Given the description of an element on the screen output the (x, y) to click on. 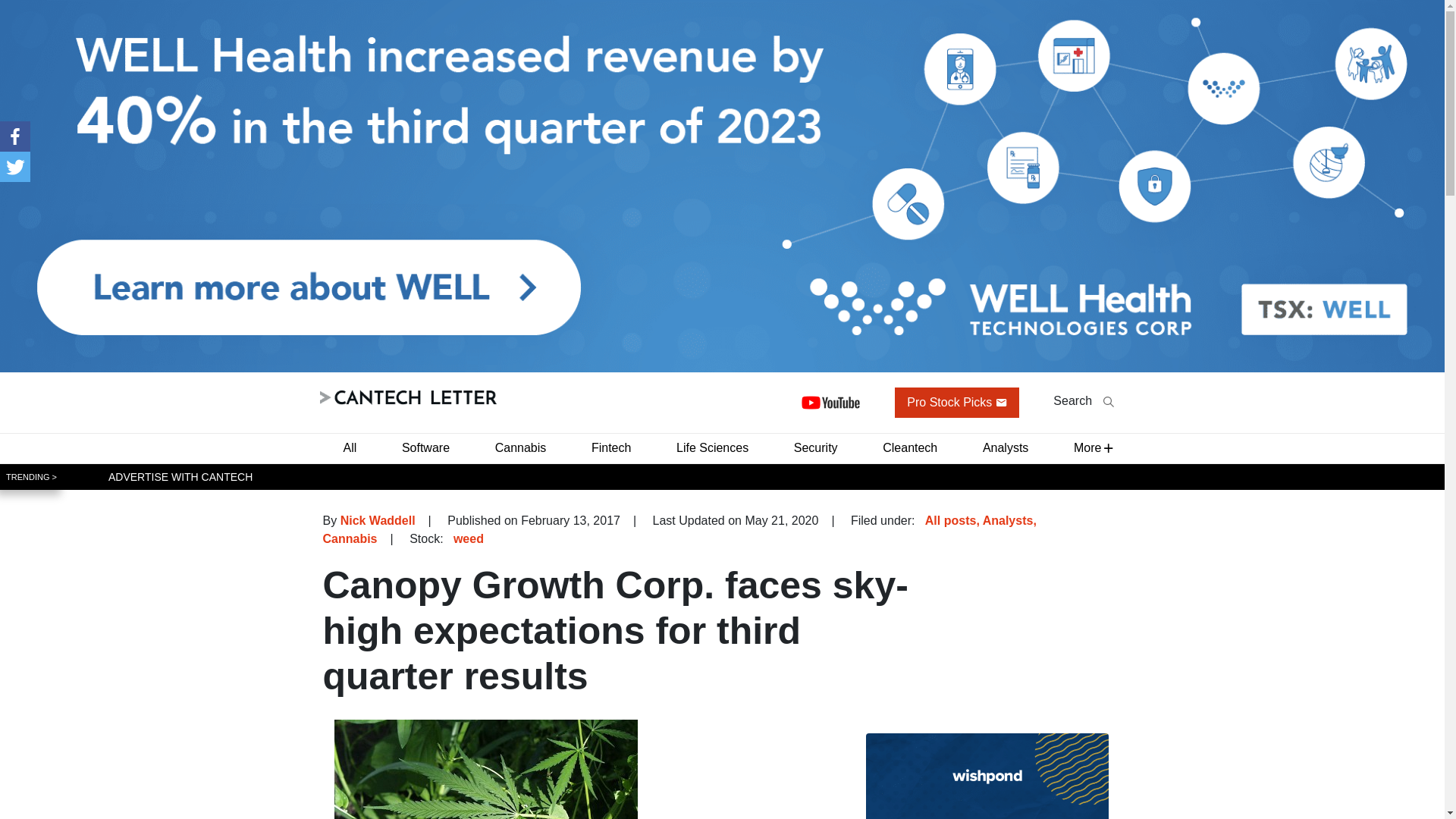
Cleantech (909, 447)
Cannabis (521, 447)
Search (1083, 400)
All (349, 447)
Nick Waddell (377, 520)
Analysts (1006, 447)
Pro Stock Picks (957, 402)
Software (425, 447)
weed (467, 538)
Life Sciences (711, 447)
